Given the description of an element on the screen output the (x, y) to click on. 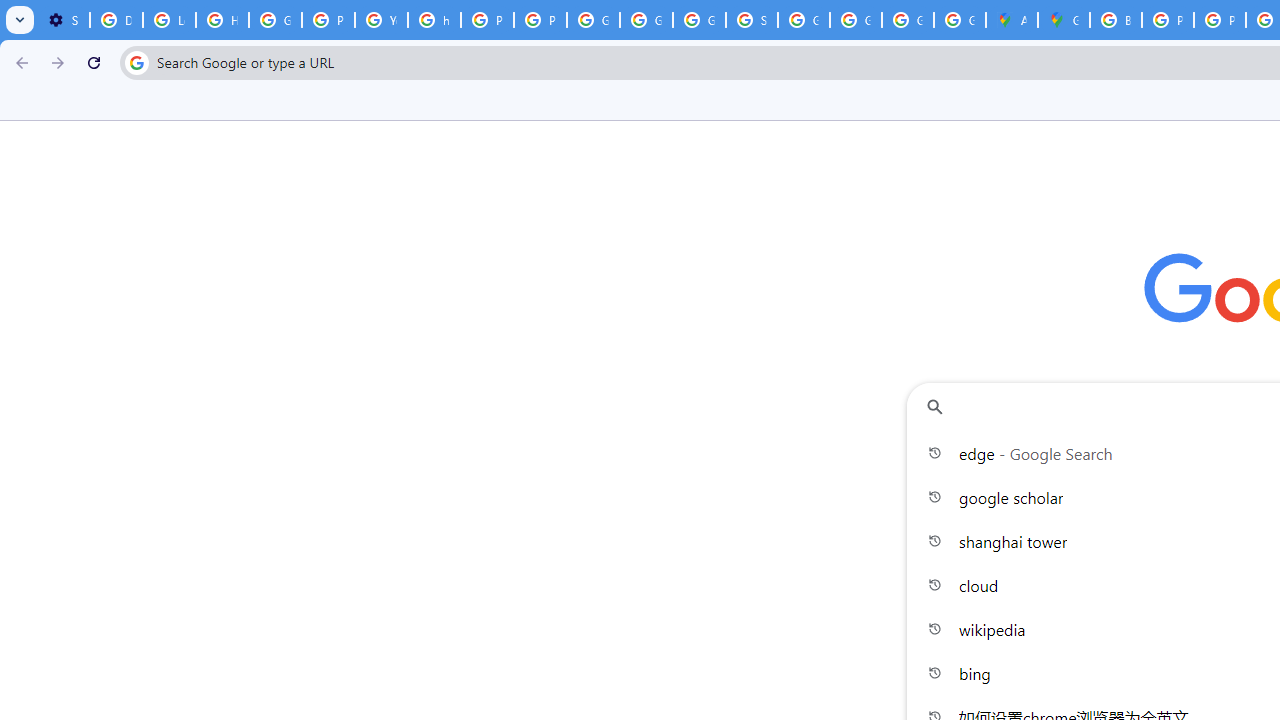
https://scholar.google.com/ (434, 20)
Google Maps (1064, 20)
Search icon (136, 62)
Delete photos & videos - Computer - Google Photos Help (116, 20)
Privacy Help Center - Policies Help (1167, 20)
Privacy Help Center - Policies Help (1219, 20)
Blogger Policies and Guidelines - Transparency Center (1115, 20)
Google Account Help (275, 20)
